Given the description of an element on the screen output the (x, y) to click on. 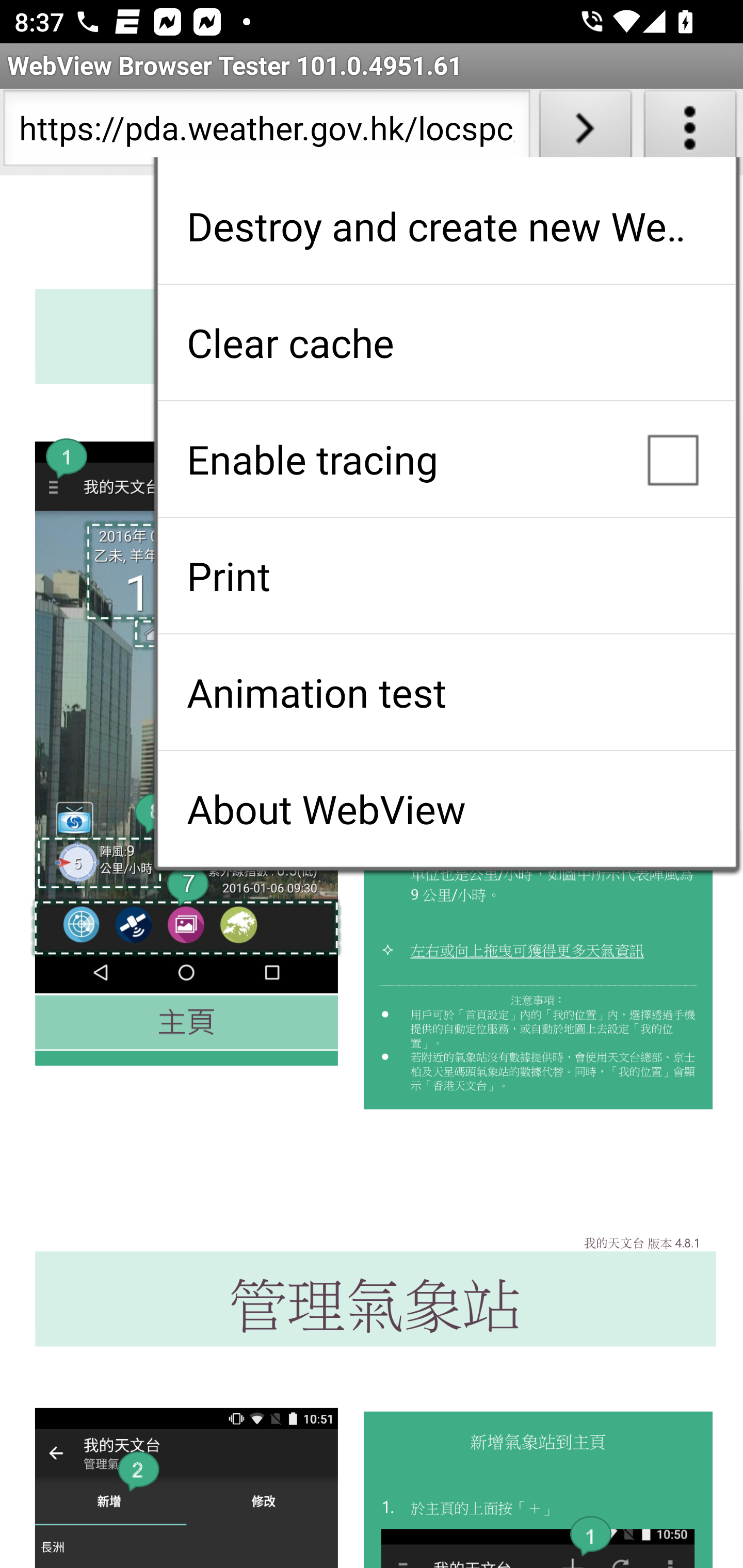
Destroy and create new WebView (446, 225)
Clear cache (446, 342)
Enable tracing (446, 459)
Print (446, 575)
Animation test (446, 692)
About WebView (446, 809)
